Given the description of an element on the screen output the (x, y) to click on. 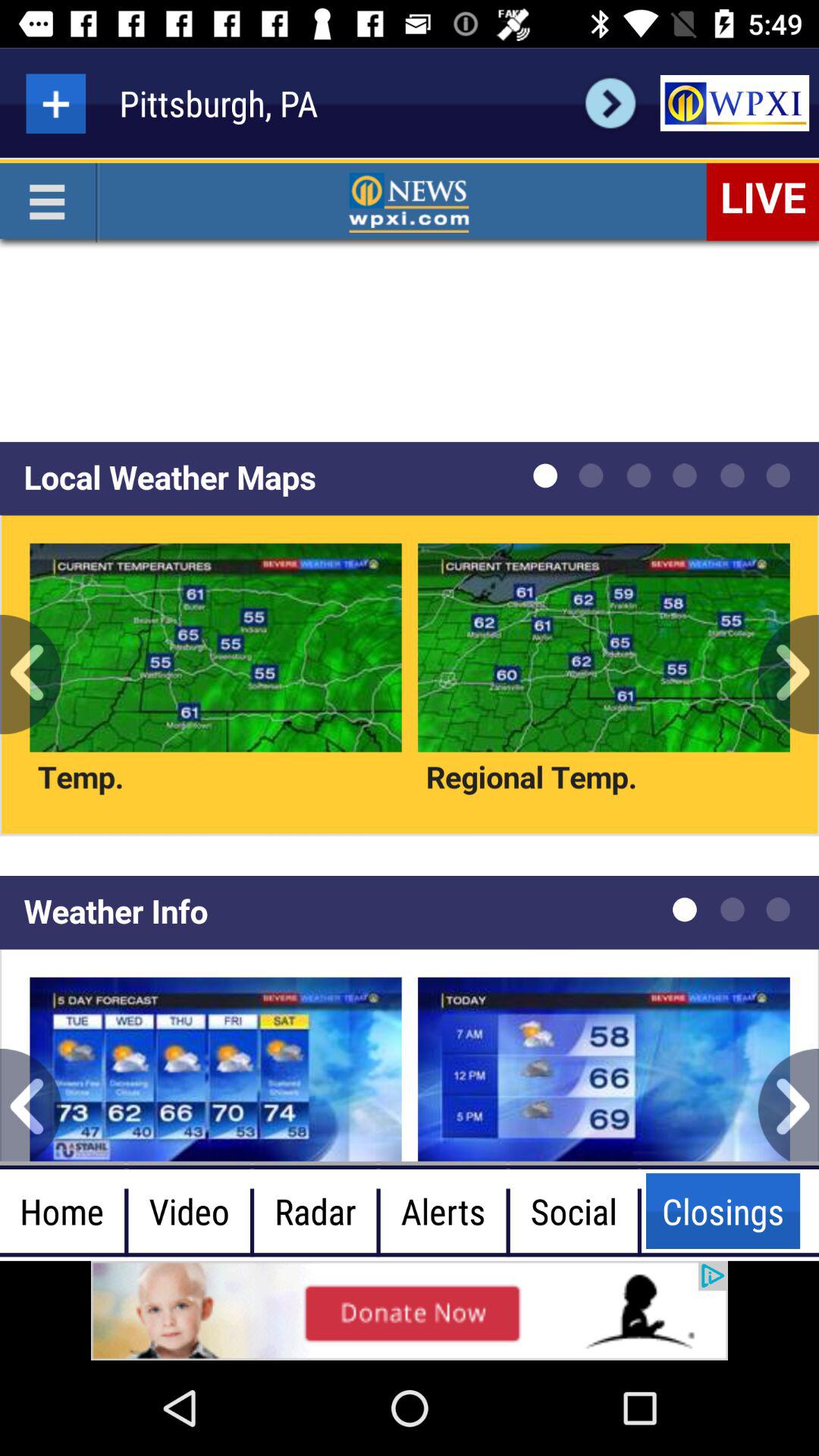
access station home page (734, 103)
